Given the description of an element on the screen output the (x, y) to click on. 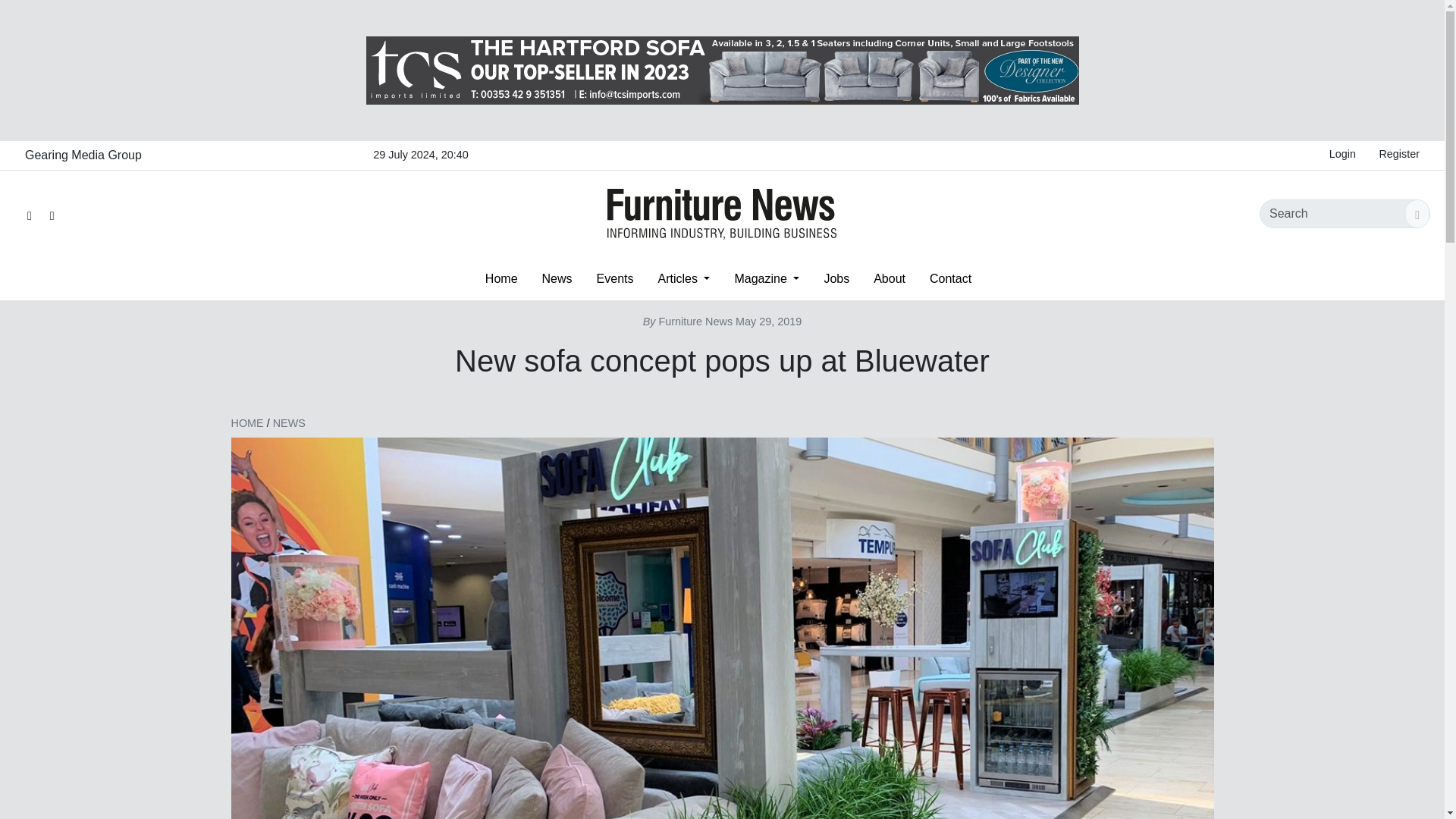
Contact (950, 278)
Articles (683, 278)
About (889, 278)
NEWS (289, 422)
Home (501, 278)
Events (615, 278)
HOME (246, 422)
Register (1398, 154)
News (557, 278)
Login (1342, 154)
Magazine (766, 278)
Gearing Media Group (82, 154)
Jobs (835, 278)
